Given the description of an element on the screen output the (x, y) to click on. 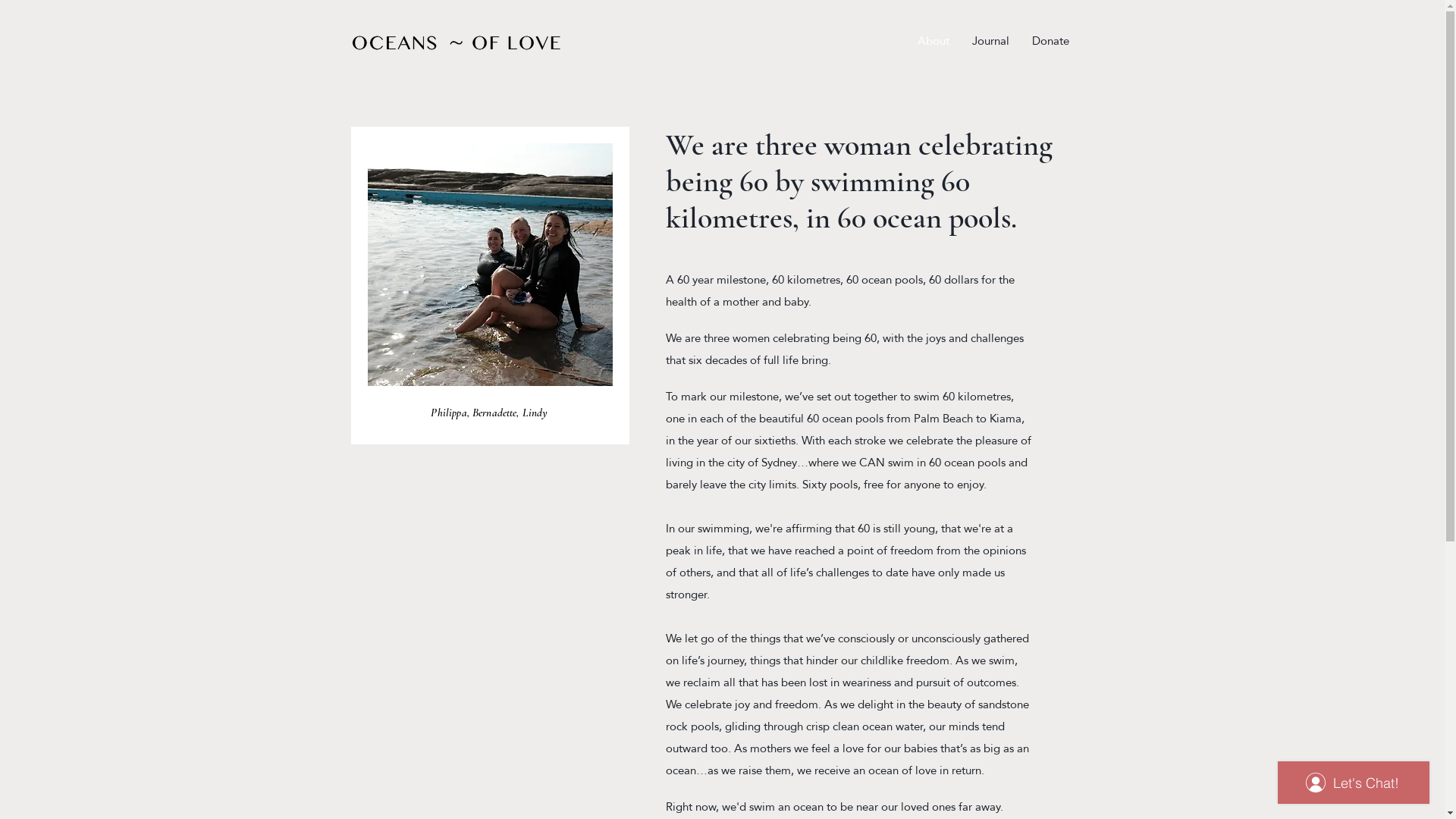
About Element type: text (932, 40)
Donate Element type: text (1050, 40)
Journal Element type: text (989, 40)
